Given the description of an element on the screen output the (x, y) to click on. 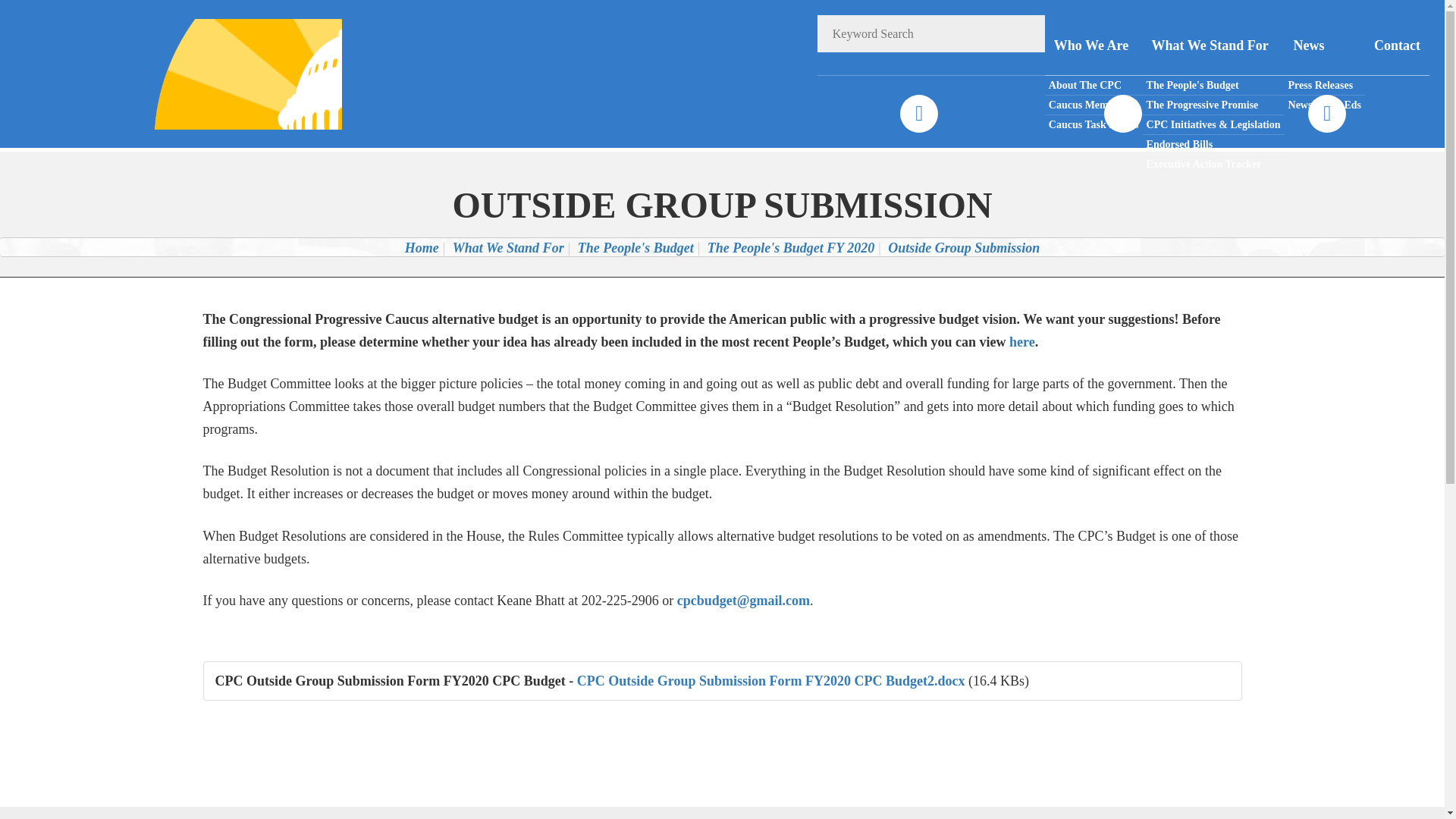
Caucus Task Forces (1093, 124)
The Progressive Promise (1213, 105)
Endorsed Bills (1213, 144)
CPC Outside Group Submission Form FY2020 CPC Budget2.docx (770, 680)
Caucus Members (1093, 105)
CONGRESSIONAL PROGRESSIVE CAUCUS (228, 73)
The People's Budget FY 2020 (791, 247)
News (1324, 45)
Executive Action Tracker (1213, 163)
OUTSIDE GROUP SUBMISSION (721, 205)
